Given the description of an element on the screen output the (x, y) to click on. 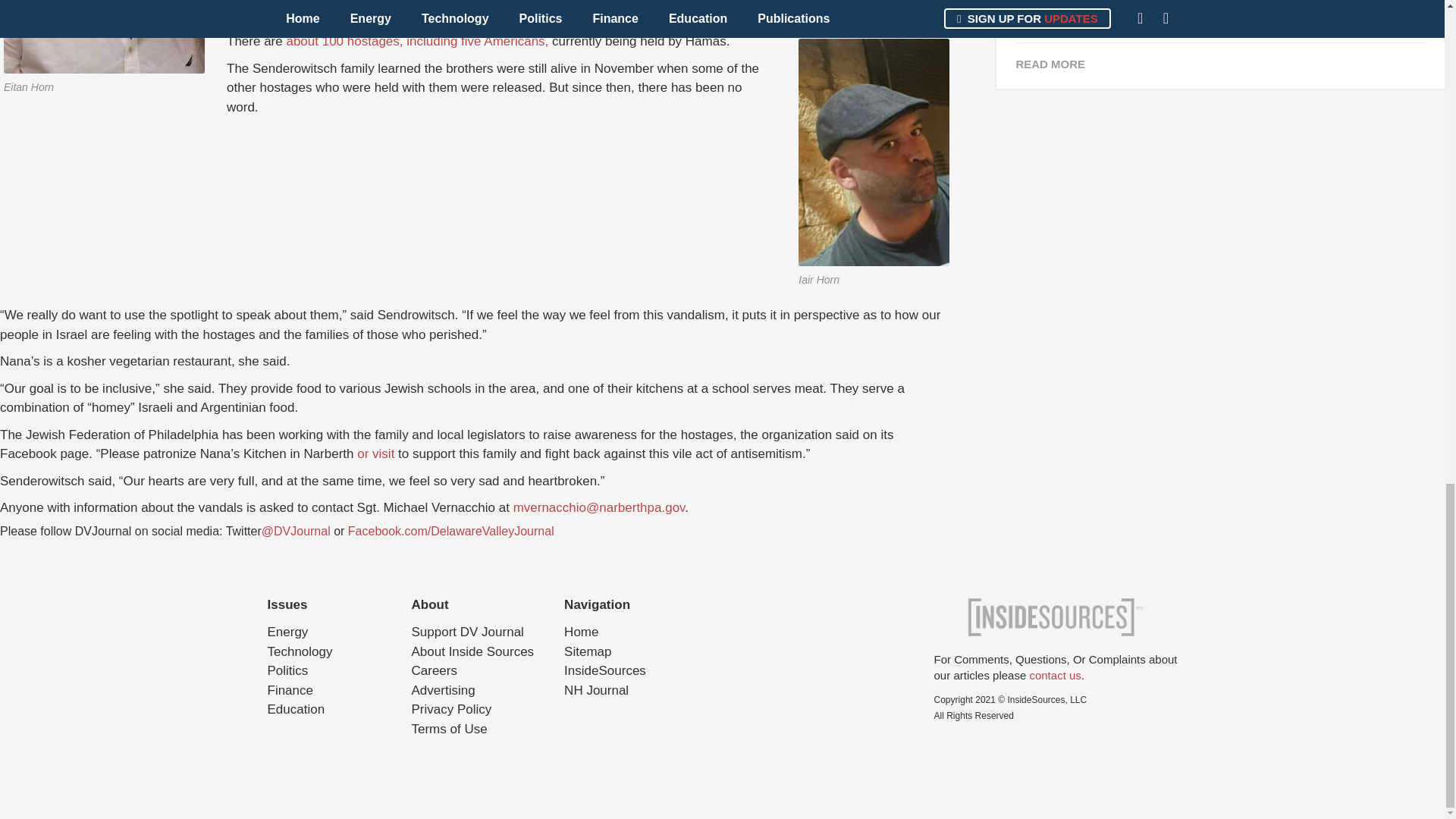
Technology (298, 650)
Support DV Journal (466, 631)
or visit  (376, 453)
about 100 hostages, including five Americans, (416, 41)
Finance (289, 690)
Education (295, 708)
Energy (286, 631)
Politics (286, 670)
READ MORE (1219, 63)
